Given the description of an element on the screen output the (x, y) to click on. 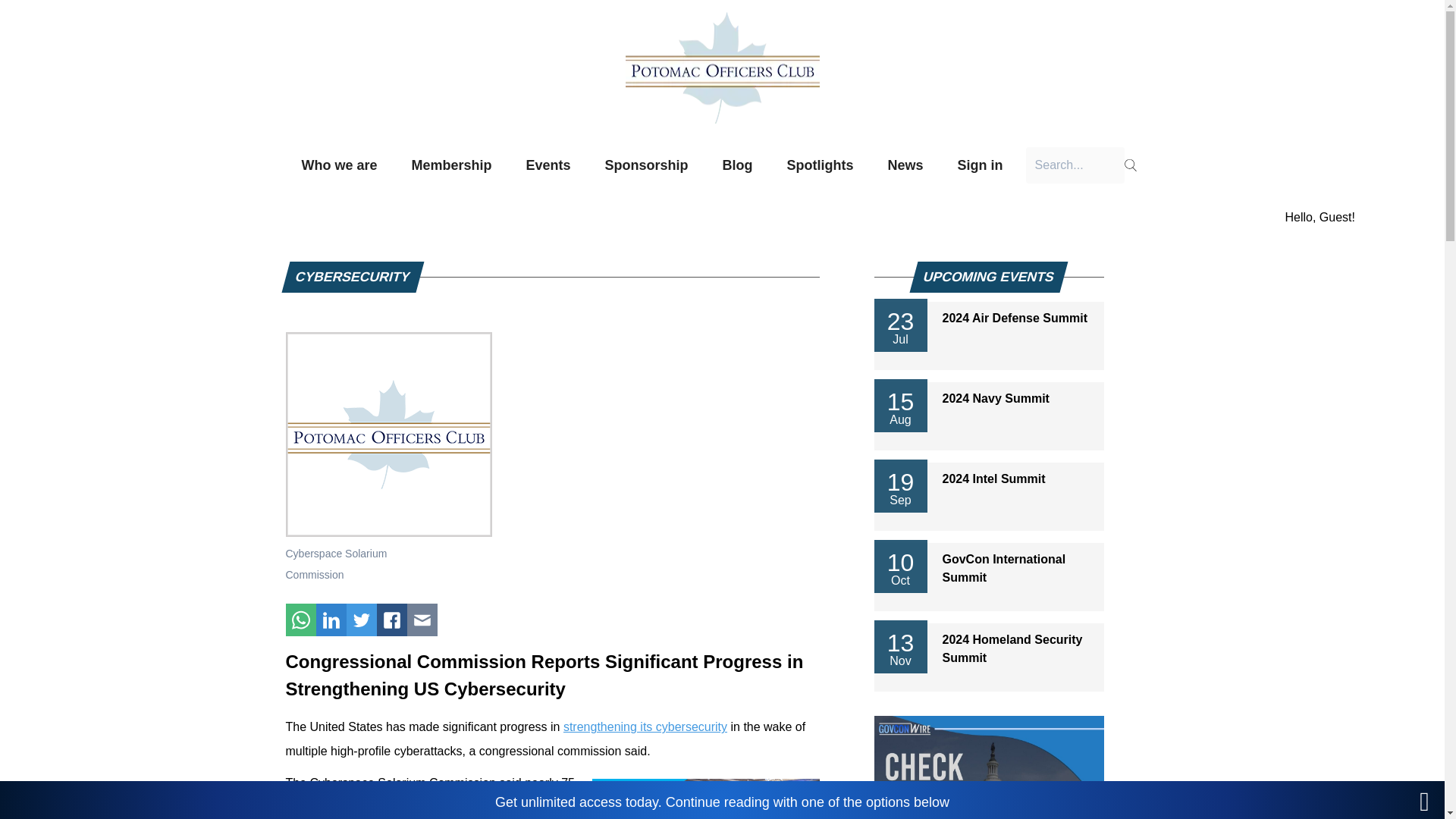
Spotlights (820, 164)
strengthening its cybersecurity (644, 726)
Sponsorship (647, 164)
Blog (737, 164)
Events (546, 164)
Sign in (980, 164)
Who we are (338, 164)
News (905, 164)
Membership (450, 164)
